Given the description of an element on the screen output the (x, y) to click on. 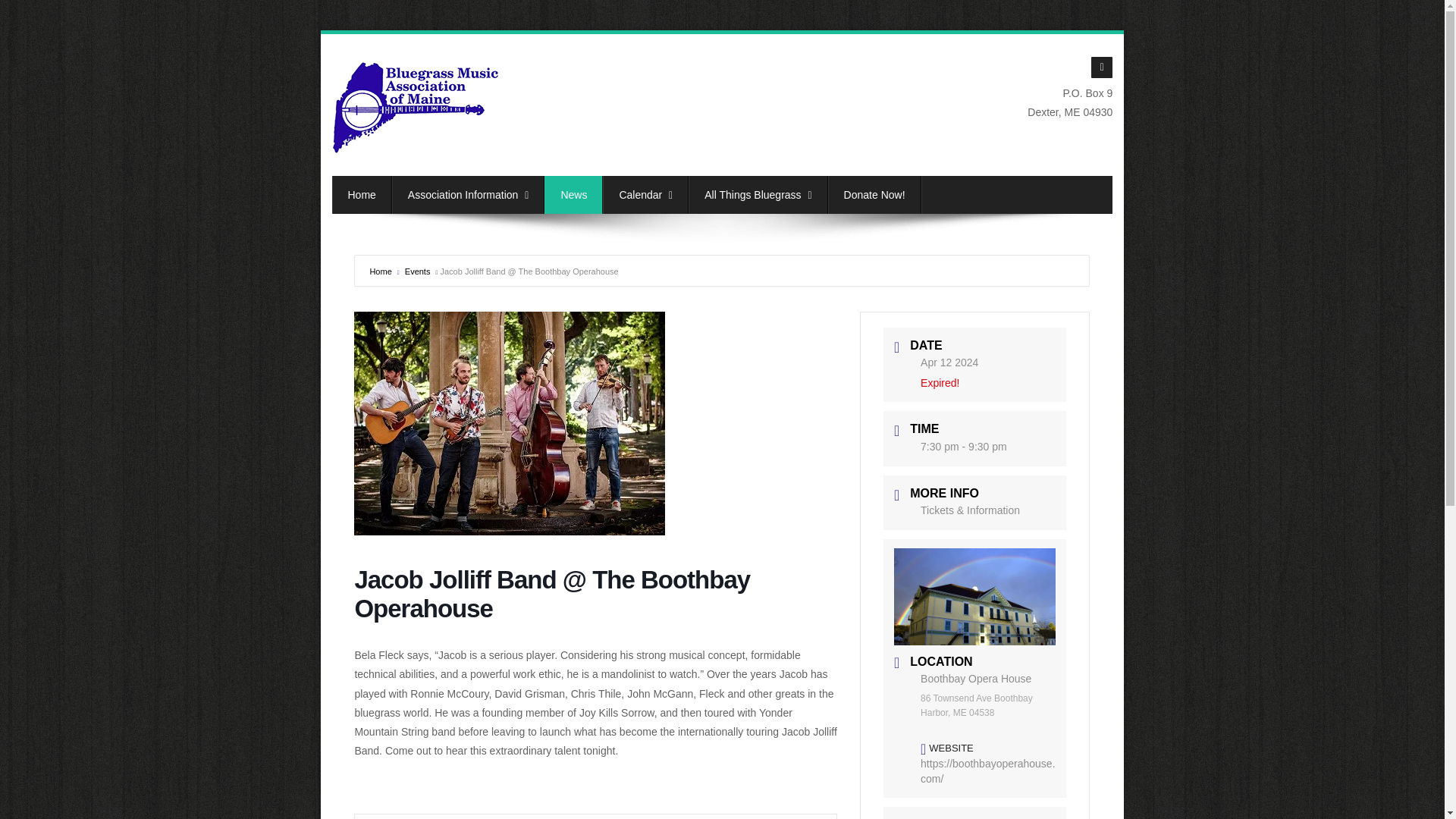
Association Information (467, 194)
Calendar (645, 194)
Home (361, 194)
Events (415, 271)
News (573, 194)
Home (379, 271)
